Given the description of an element on the screen output the (x, y) to click on. 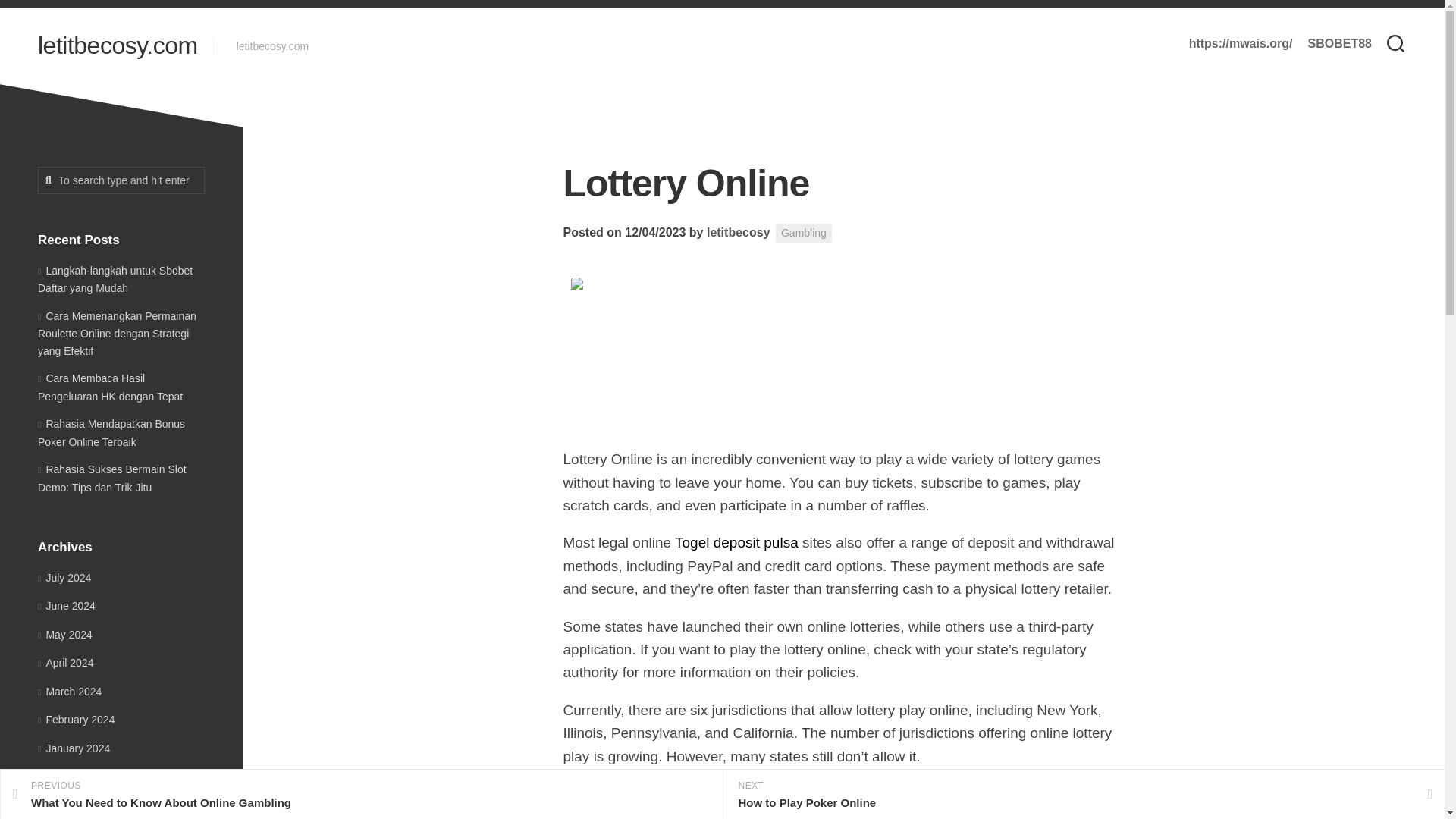
May 2024 (65, 633)
March 2024 (69, 691)
Rahasia Mendapatkan Bonus Poker Online Terbaik (110, 432)
January 2024 (73, 747)
November 2023 (78, 805)
June 2024 (66, 605)
To search type and hit enter (121, 180)
To search type and hit enter (121, 180)
SBOBET88 (1339, 43)
letitbecosy.com (117, 44)
Posts by letitbecosy (738, 232)
Rahasia Sukses Bermain Slot Demo: Tips dan Trik Jitu (111, 478)
Cara Membaca Hasil Pengeluaran HK dengan Tepat (110, 387)
April 2024 (65, 662)
